Given the description of an element on the screen output the (x, y) to click on. 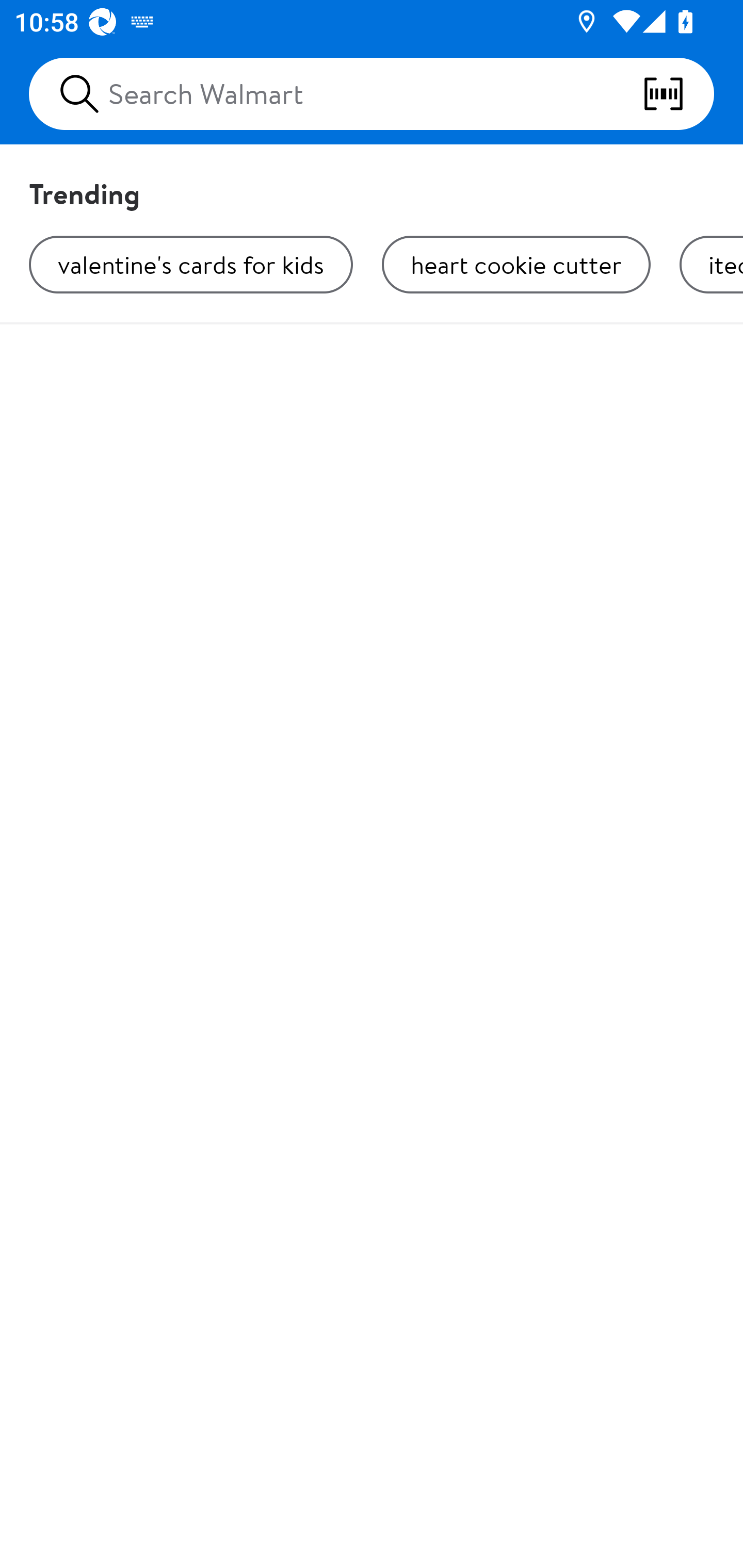
Search Walmart scan barcodes qr codes and more (371, 94)
scan barcodes qr codes and more (677, 94)
